Given the description of an element on the screen output the (x, y) to click on. 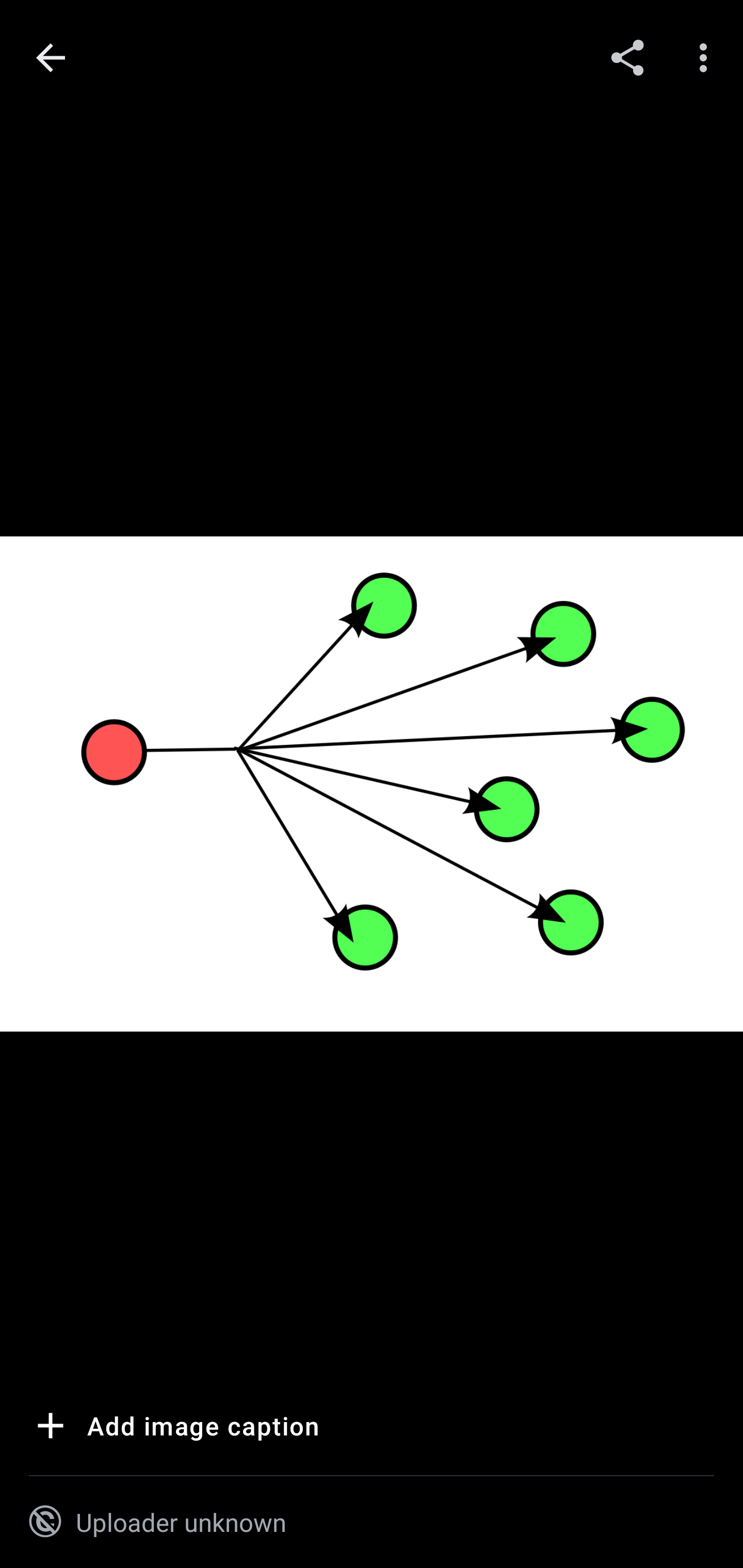
Navigate up (50, 57)
Share (626, 57)
More options (706, 57)
Add image caption (174, 1428)
Public domain (44, 1521)
